Given the description of an element on the screen output the (x, y) to click on. 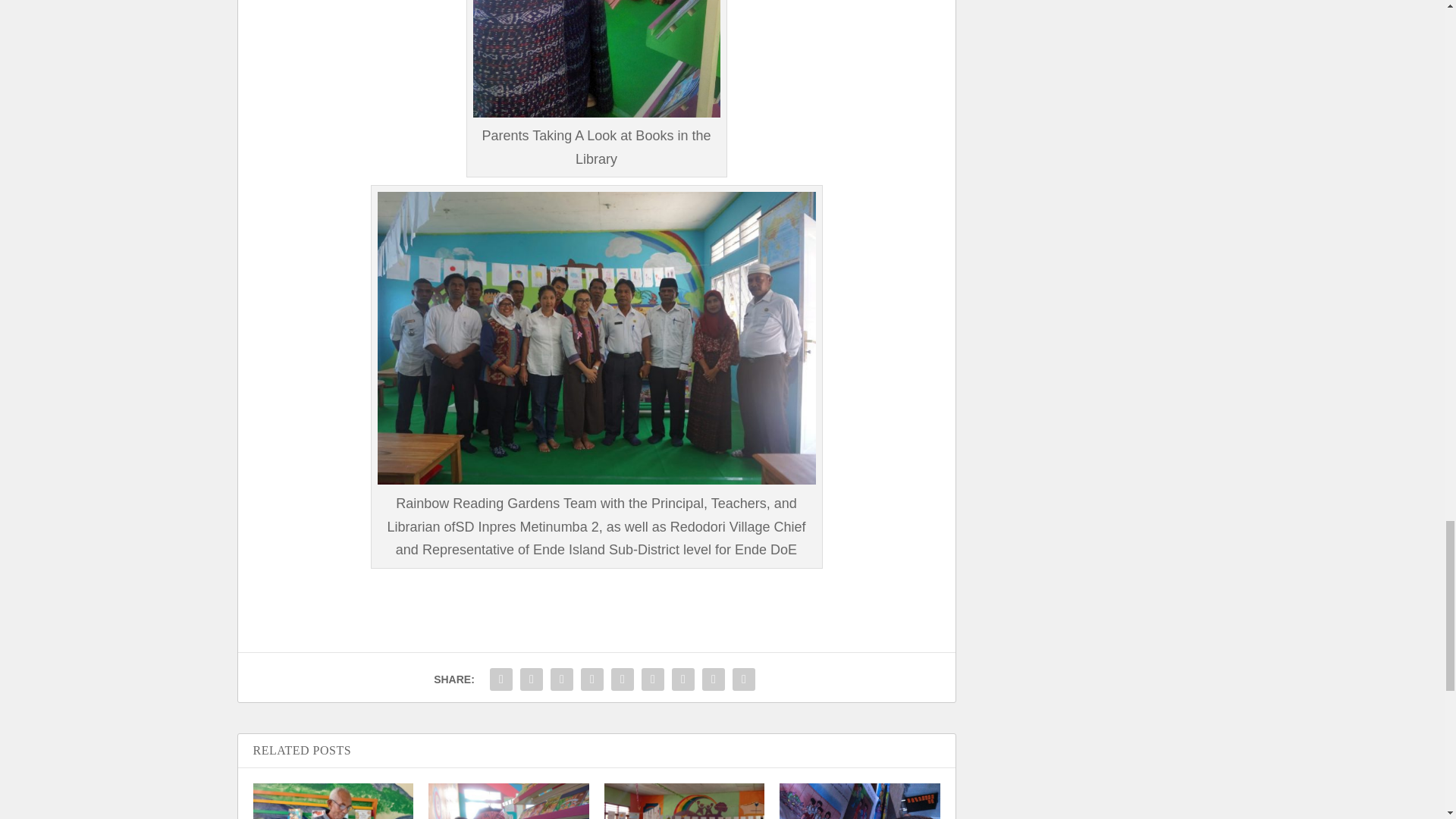
Les Membaca Gratis untuk Anak-anak Pulau Rinca (859, 800)
